Given the description of an element on the screen output the (x, y) to click on. 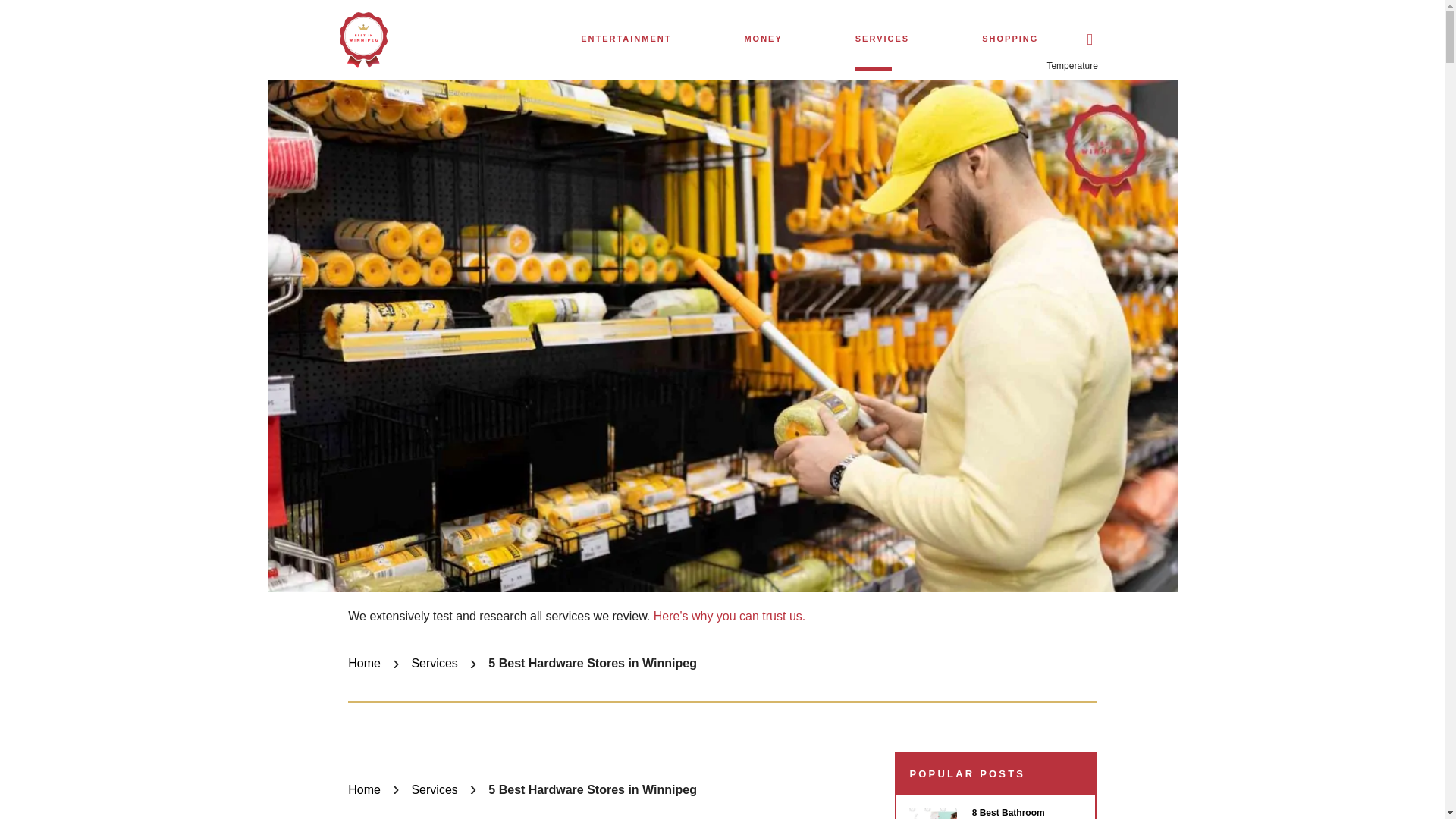
SERVICES (882, 38)
ENTERTAINMENT (625, 38)
SHOPPING (1009, 38)
